Given the description of an element on the screen output the (x, y) to click on. 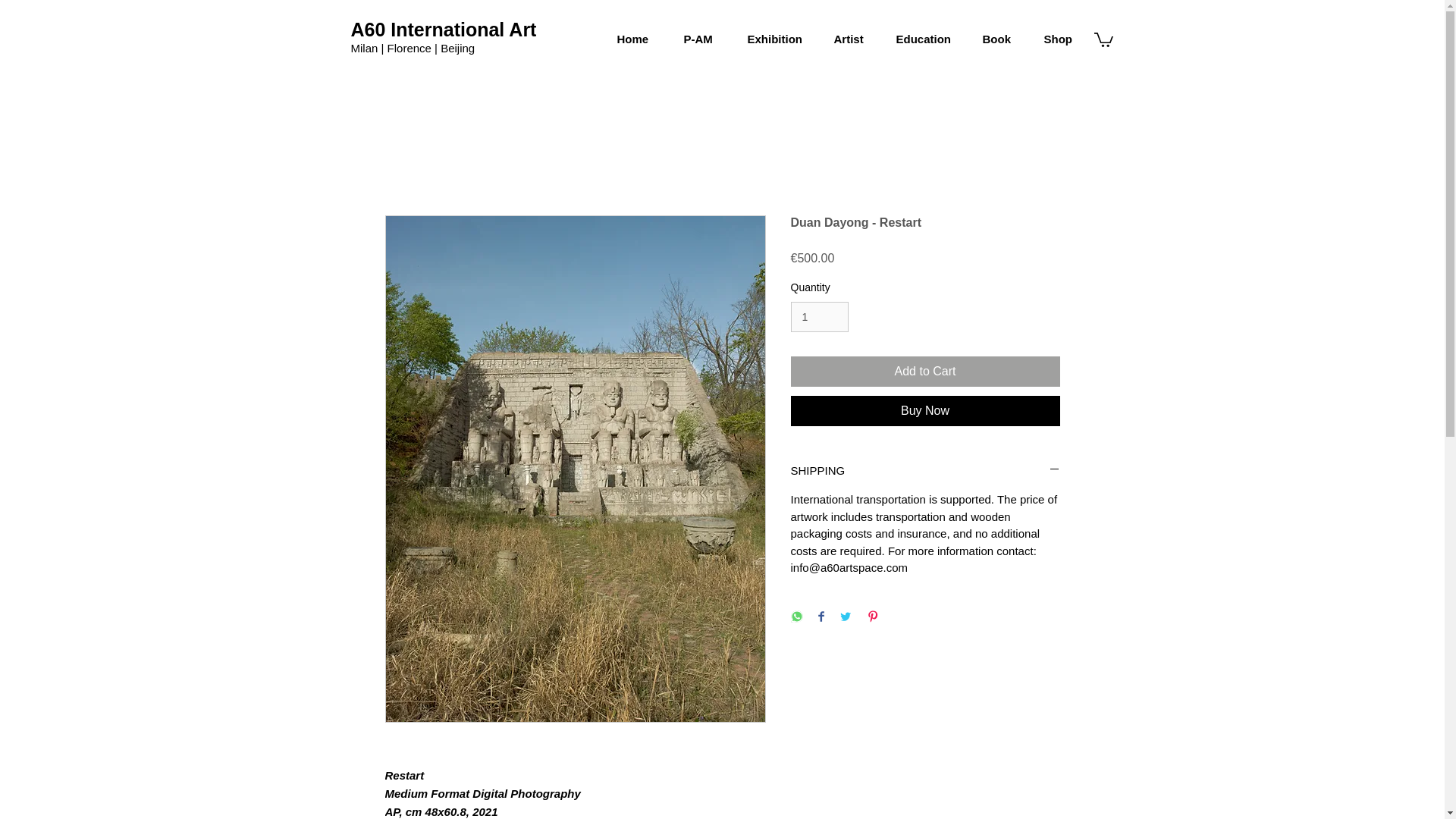
Home (638, 39)
SHIPPING (924, 470)
P-AM (703, 39)
Education (927, 39)
Book (1001, 39)
Buy Now (924, 410)
Shop (1063, 39)
Exhibition (778, 39)
Artist (852, 39)
1 (818, 317)
Add to Cart (924, 371)
